Given the description of an element on the screen output the (x, y) to click on. 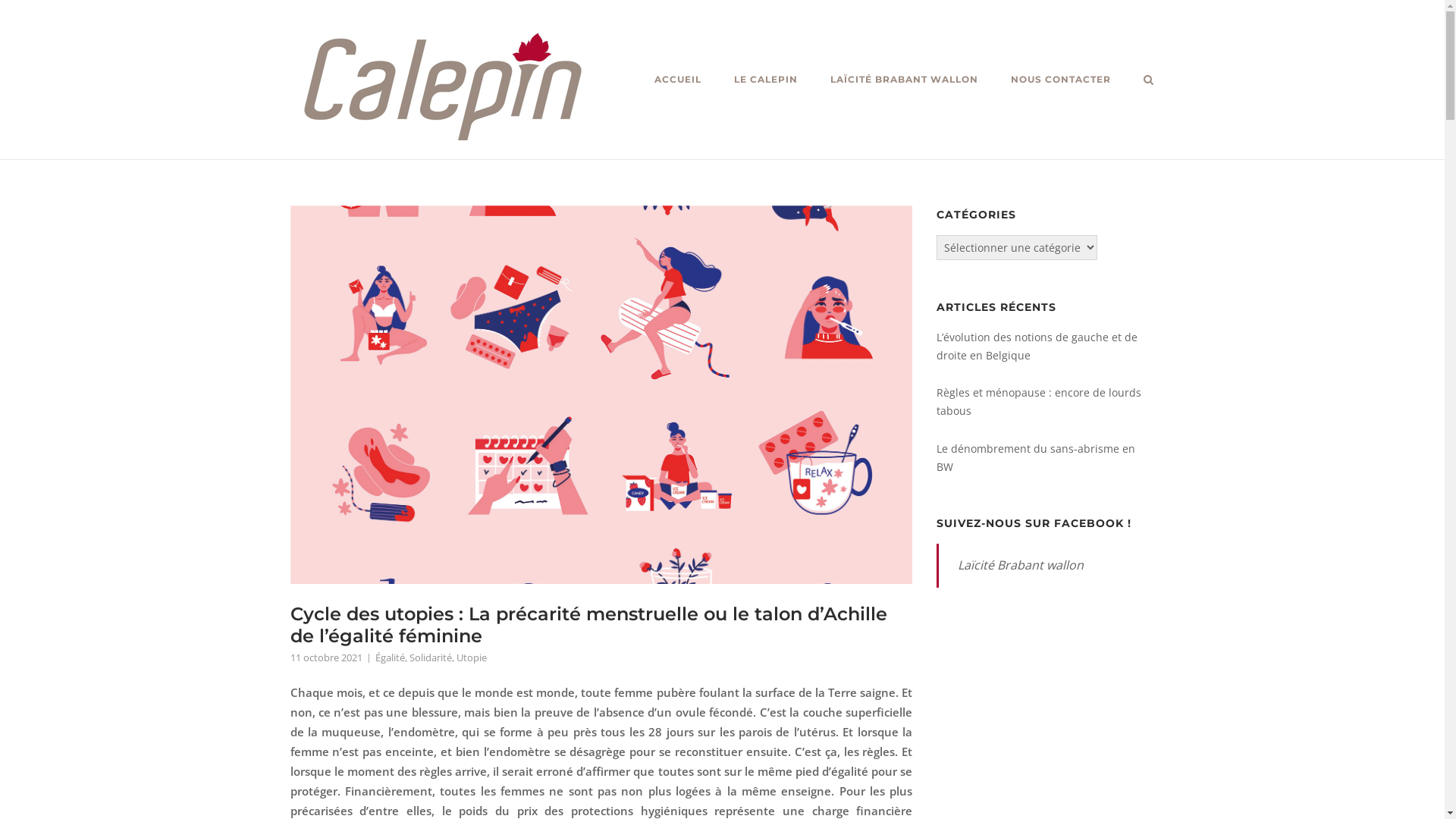
ACCUEIL Element type: text (676, 81)
NOUS CONTACTER Element type: text (1060, 81)
LE CALEPIN Element type: text (765, 81)
Utopie Element type: text (471, 657)
